Given the description of an element on the screen output the (x, y) to click on. 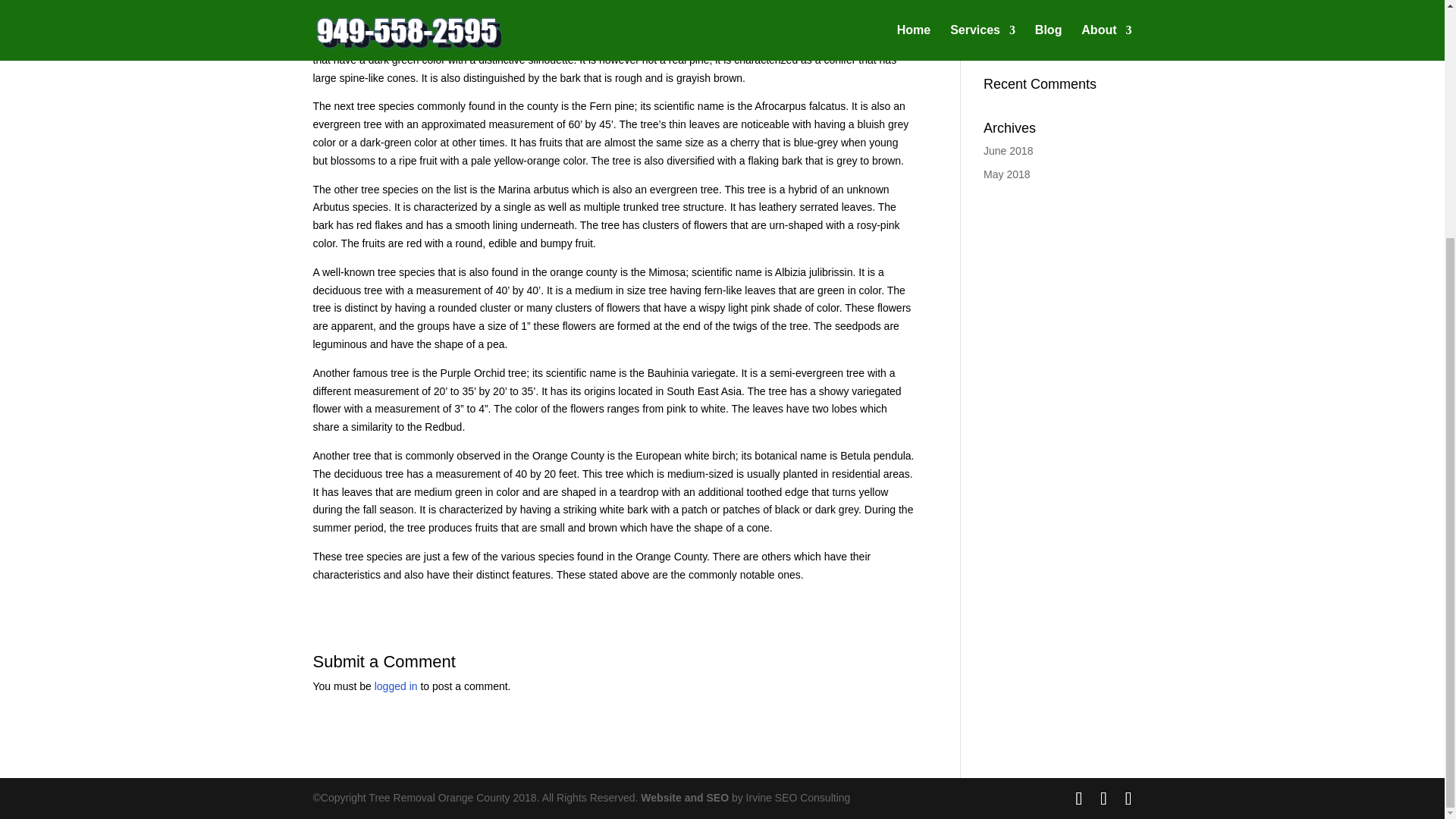
May 2018 (1006, 174)
June 2018 (1008, 150)
logged in (395, 686)
Trees That Grow Well In Orange County, CA (1040, 4)
Website and SEO (686, 797)
Fruit Trees that Grow in Orange County (1039, 35)
